Given the description of an element on the screen output the (x, y) to click on. 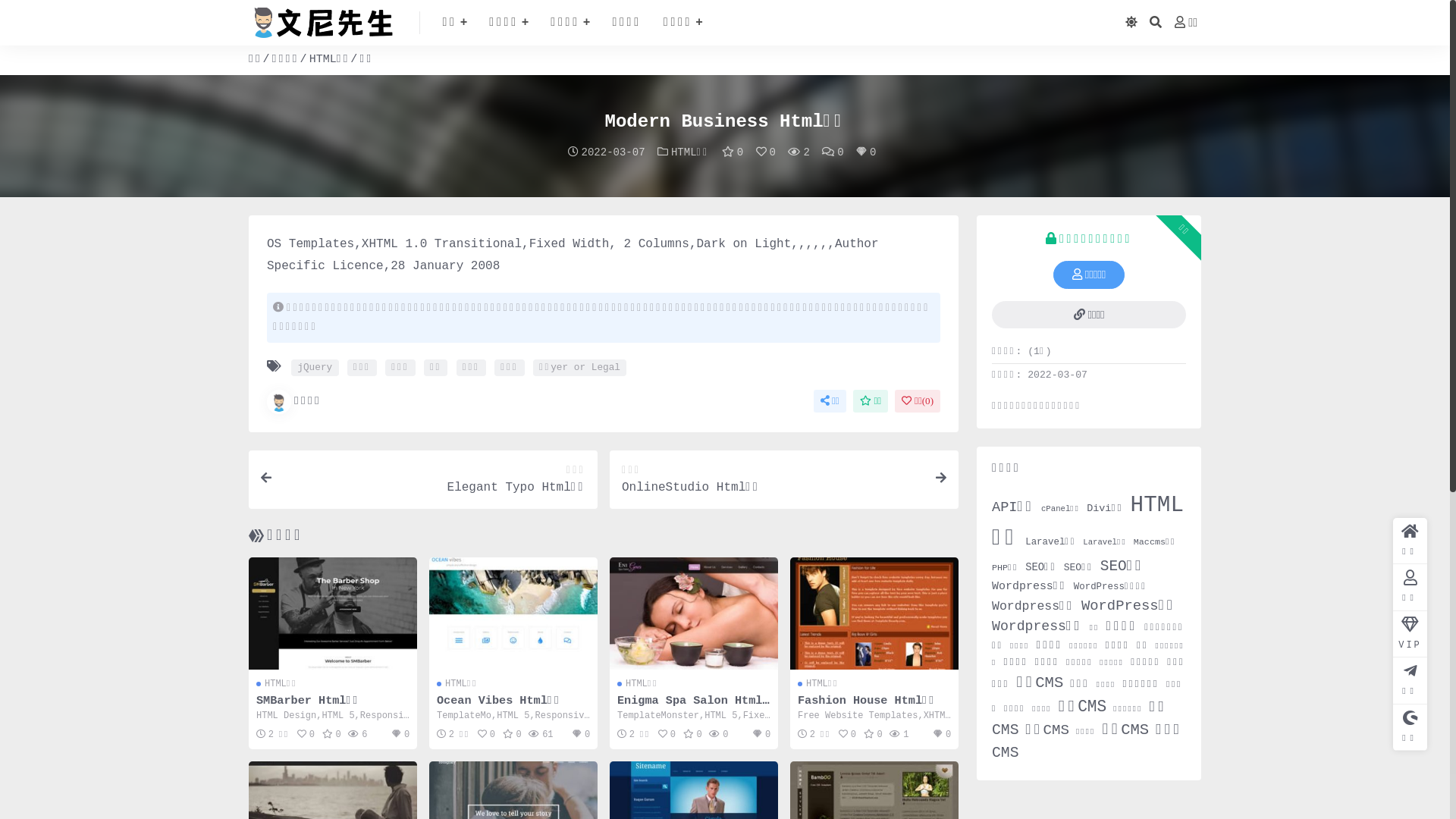
VIP Element type: text (1410, 634)
jQuery Element type: text (314, 367)
0 Element type: text (832, 152)
